Given the description of an element on the screen output the (x, y) to click on. 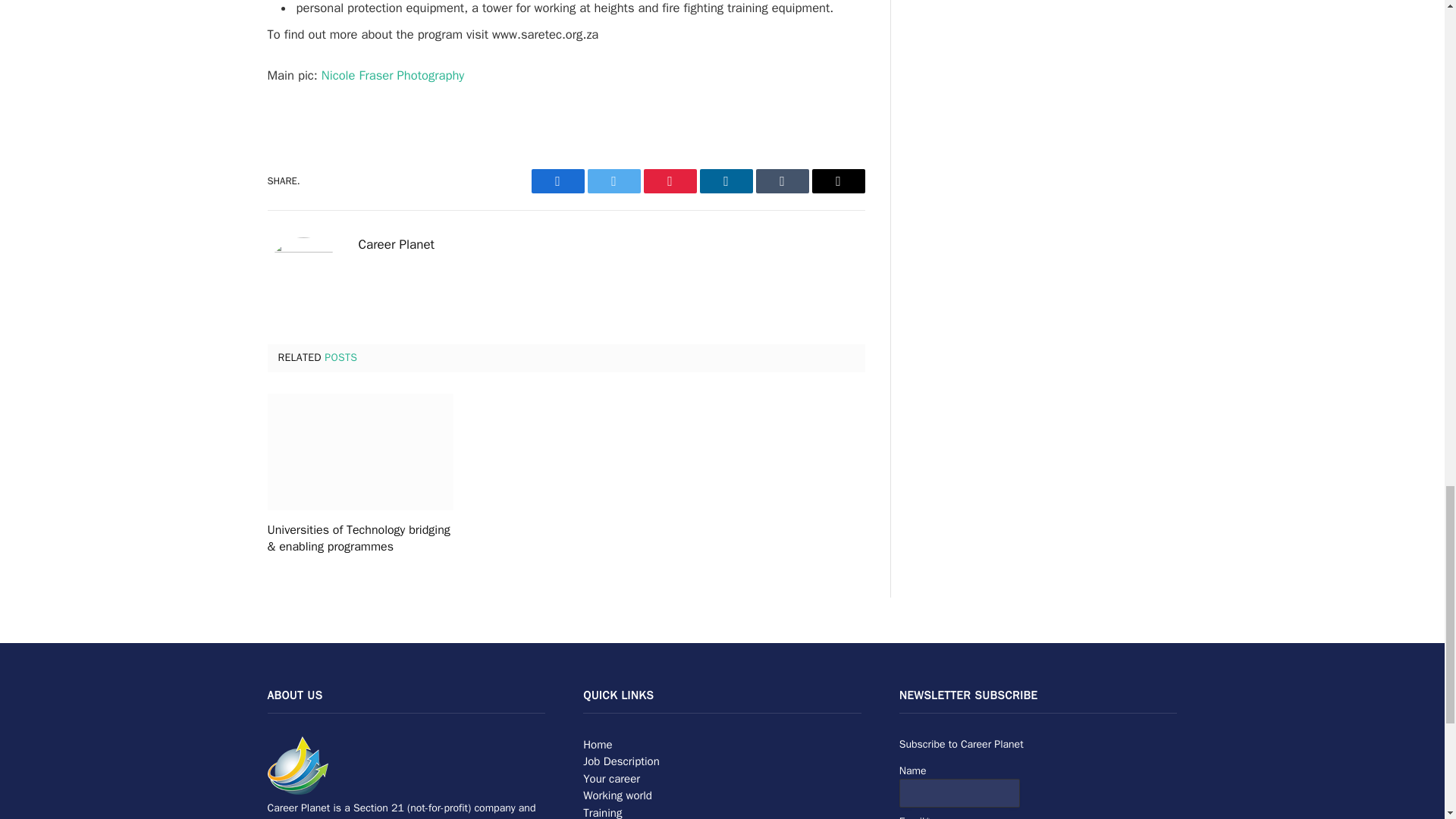
Share on Facebook (557, 180)
Share on Pinterest (669, 180)
